Given the description of an element on the screen output the (x, y) to click on. 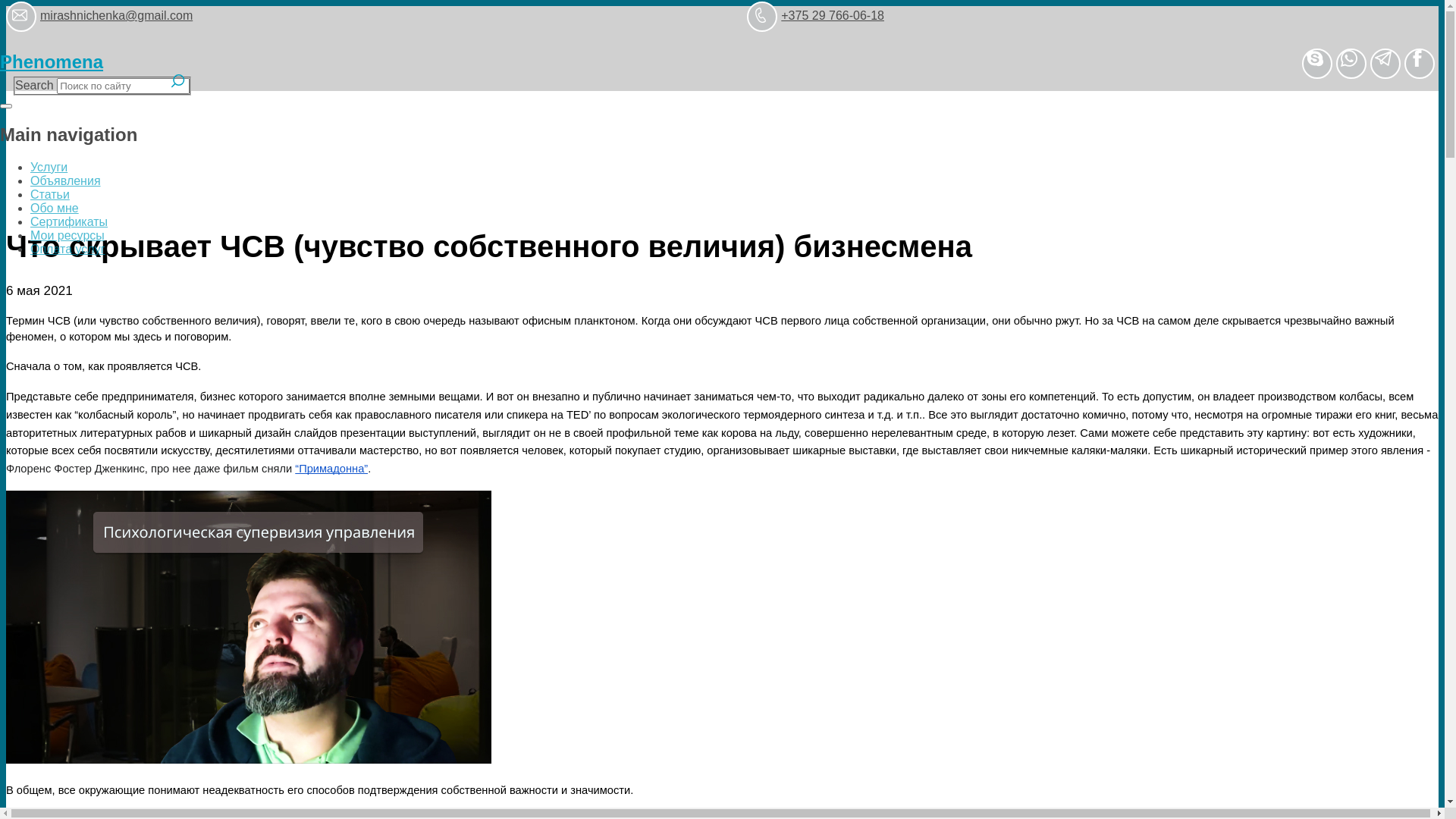
mailmirashnichenka@gmail.com Element type: text (99, 21)
Phenomena Element type: text (51, 61)
phone+375 29 766-06-18 Element type: text (815, 21)
skype Element type: text (1317, 63)
telegram Element type: text (1385, 63)
facebook Element type: text (1419, 63)
Search Element type: text (177, 80)
whatsapp Element type: text (1351, 63)
